Given the description of an element on the screen output the (x, y) to click on. 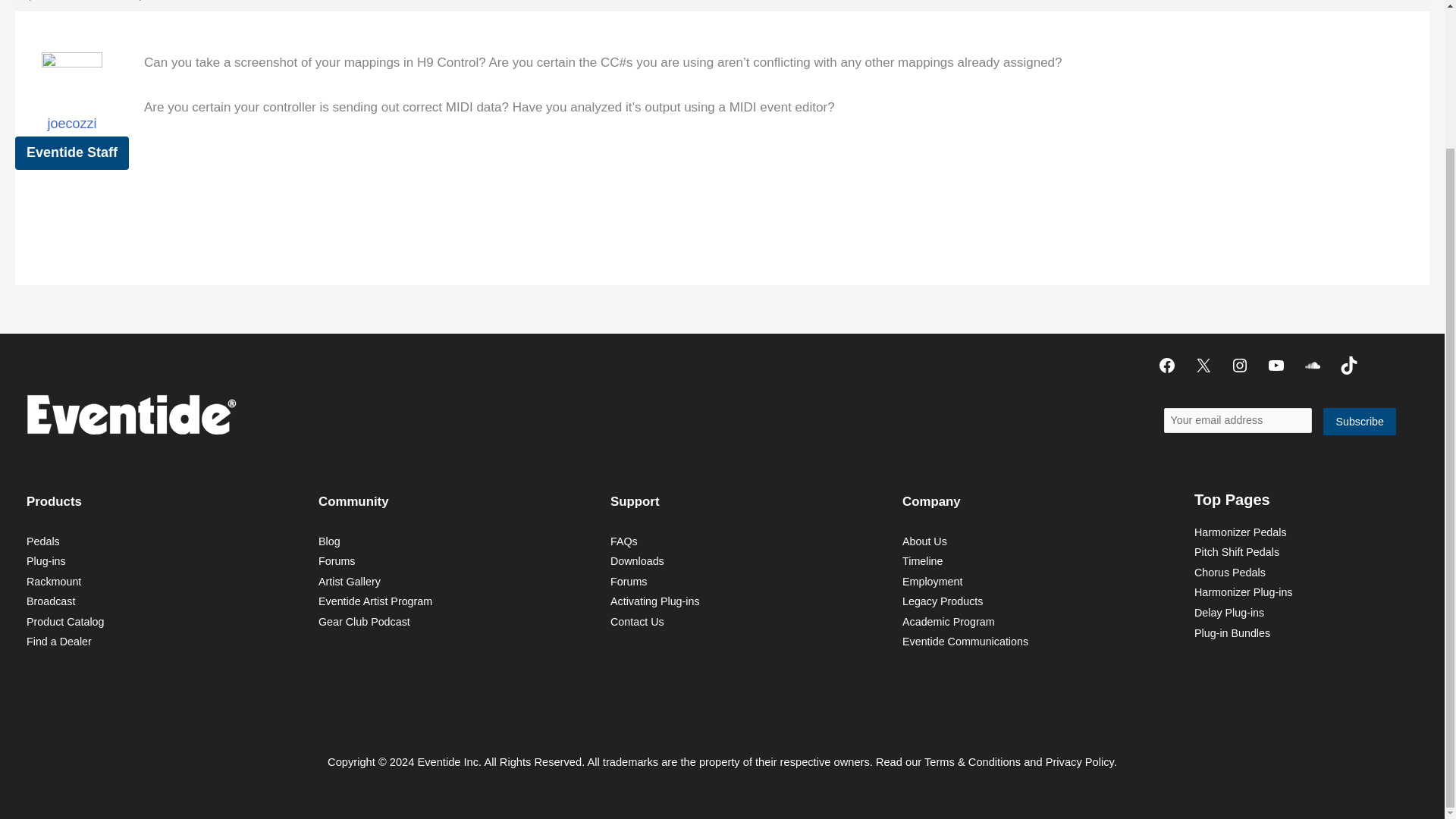
eventide-logo-white (130, 413)
Subscribe (1359, 421)
View joecozzi's profile (71, 102)
